Given the description of an element on the screen output the (x, y) to click on. 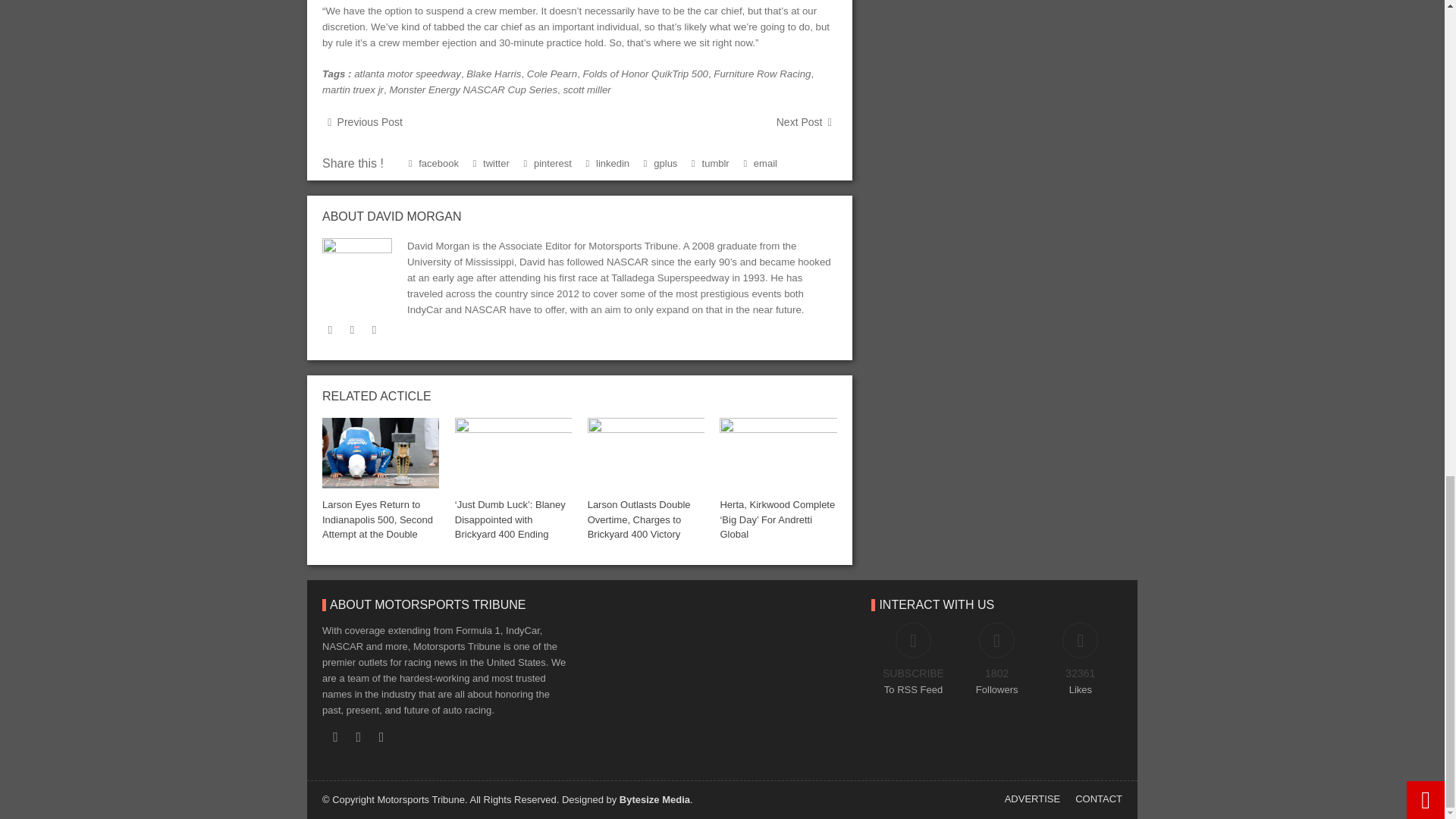
facebook (351, 329)
twitter (329, 329)
Posts by David Morgan (413, 215)
email (373, 329)
